Given the description of an element on the screen output the (x, y) to click on. 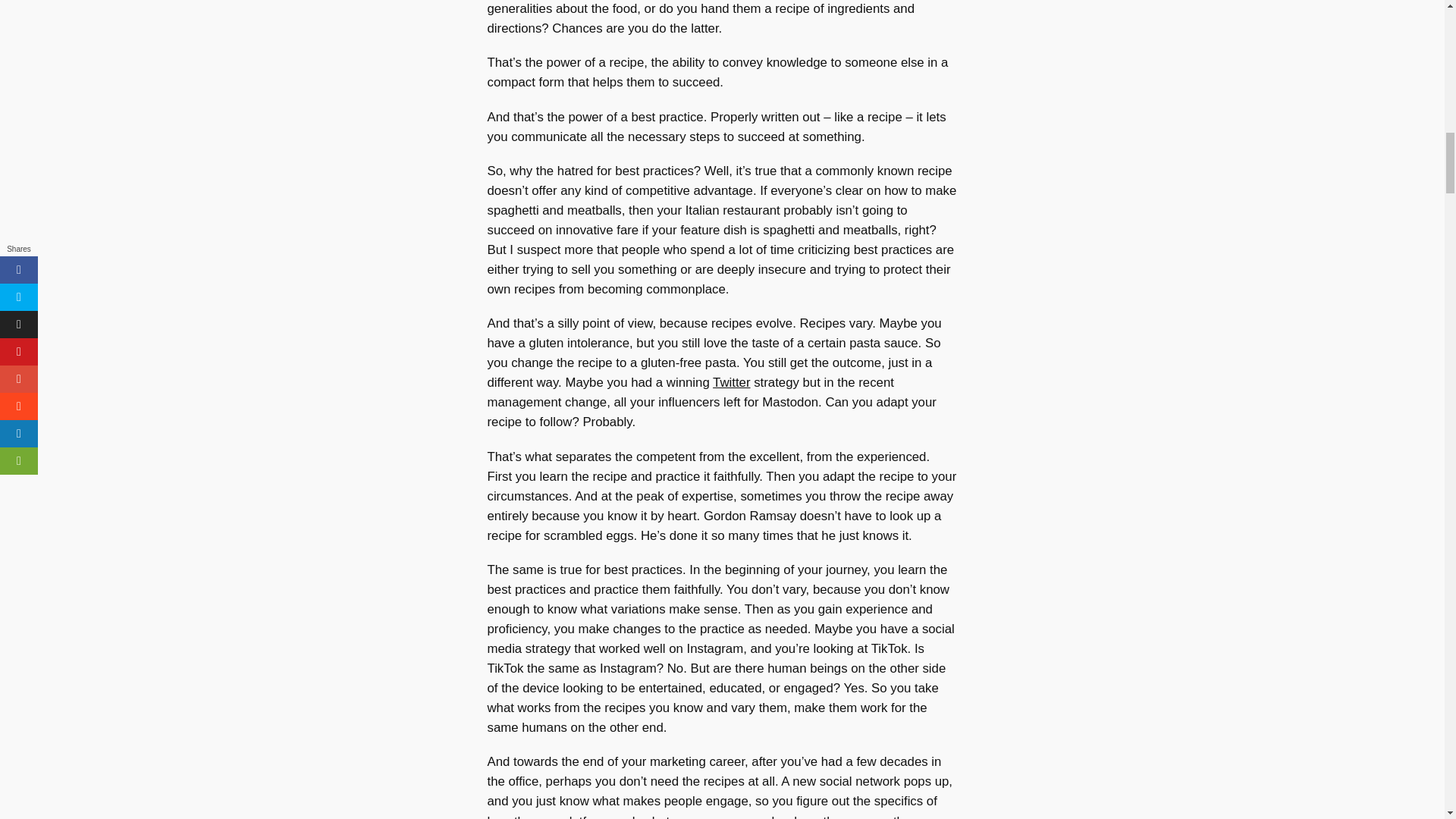
Twitter (731, 382)
